Given the description of an element on the screen output the (x, y) to click on. 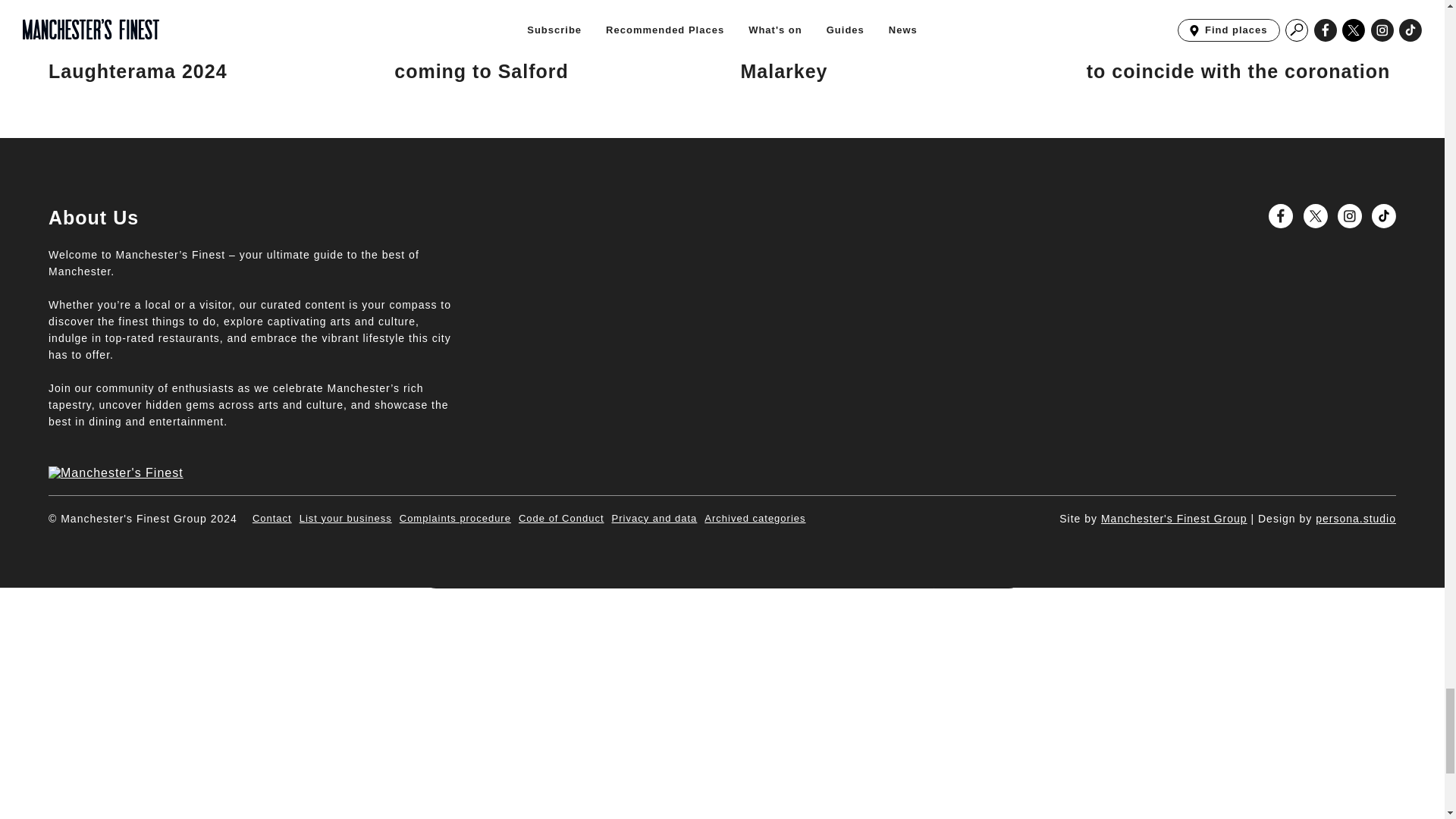
Go to Manchester's Finest TikTok profile (1383, 215)
Go to Manchester's Finest Facebook page (1280, 215)
Go to Manchester's Finest Instagram profile (1349, 215)
Go to Manchester's Finest X profile (1315, 215)
